Given the description of an element on the screen output the (x, y) to click on. 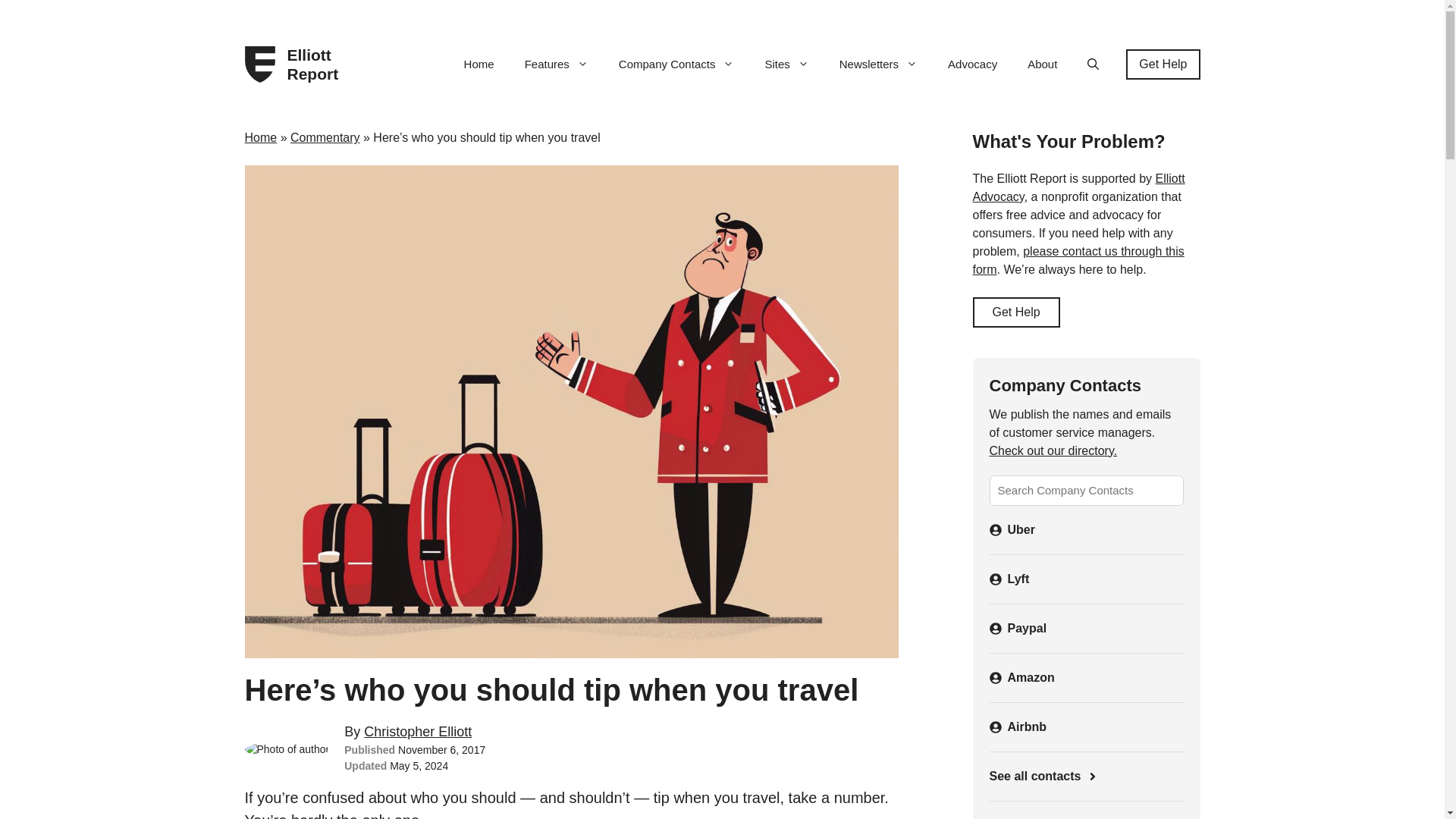
Get Help (1162, 64)
Newsletters (878, 64)
Features (556, 64)
Advertisement (1085, 814)
Elliott Report (318, 64)
Sites (786, 64)
Advocacy (972, 64)
Company Contacts (676, 64)
About (1041, 64)
Home (478, 64)
